Given the description of an element on the screen output the (x, y) to click on. 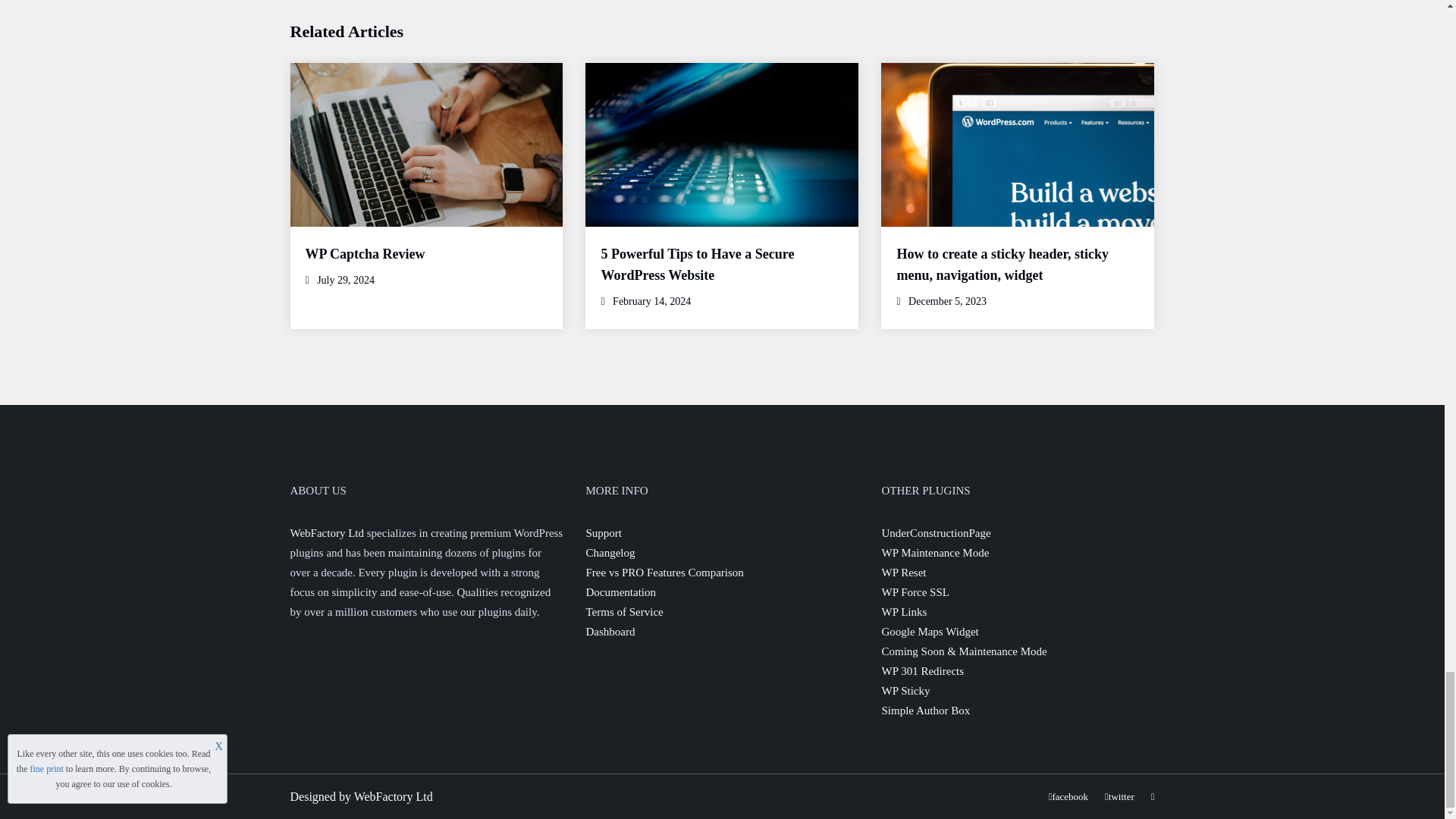
WP Captcha Review (364, 253)
5 Powerful Tips to Have a Secure WordPress Website (696, 264)
5 Powerful Tips to Have a Secure WordPress Website (696, 264)
WP Captcha Review (364, 253)
